Given the description of an element on the screen output the (x, y) to click on. 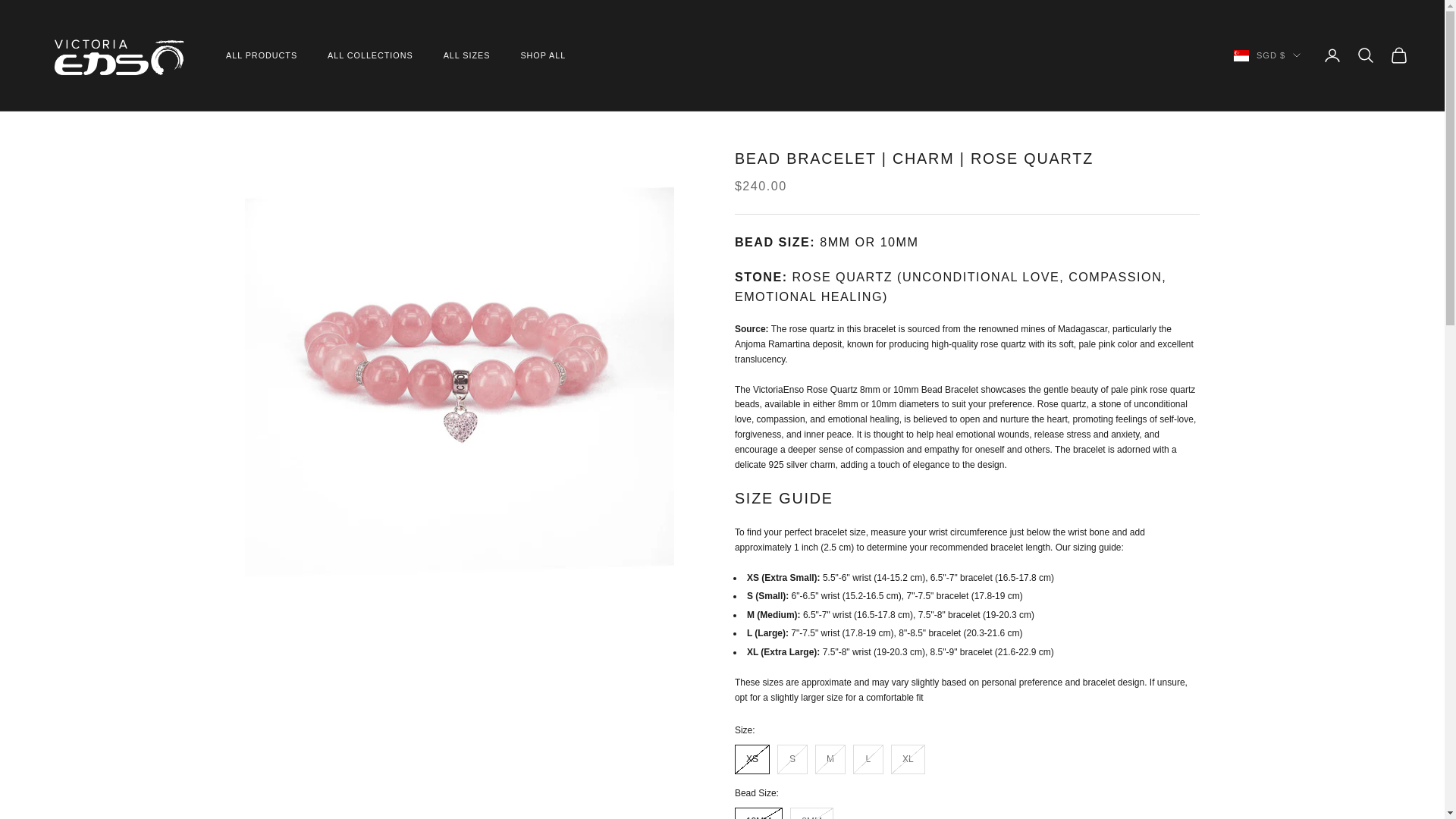
ALL PRODUCTS (261, 55)
VictoriaEnso (115, 55)
